Given the description of an element on the screen output the (x, y) to click on. 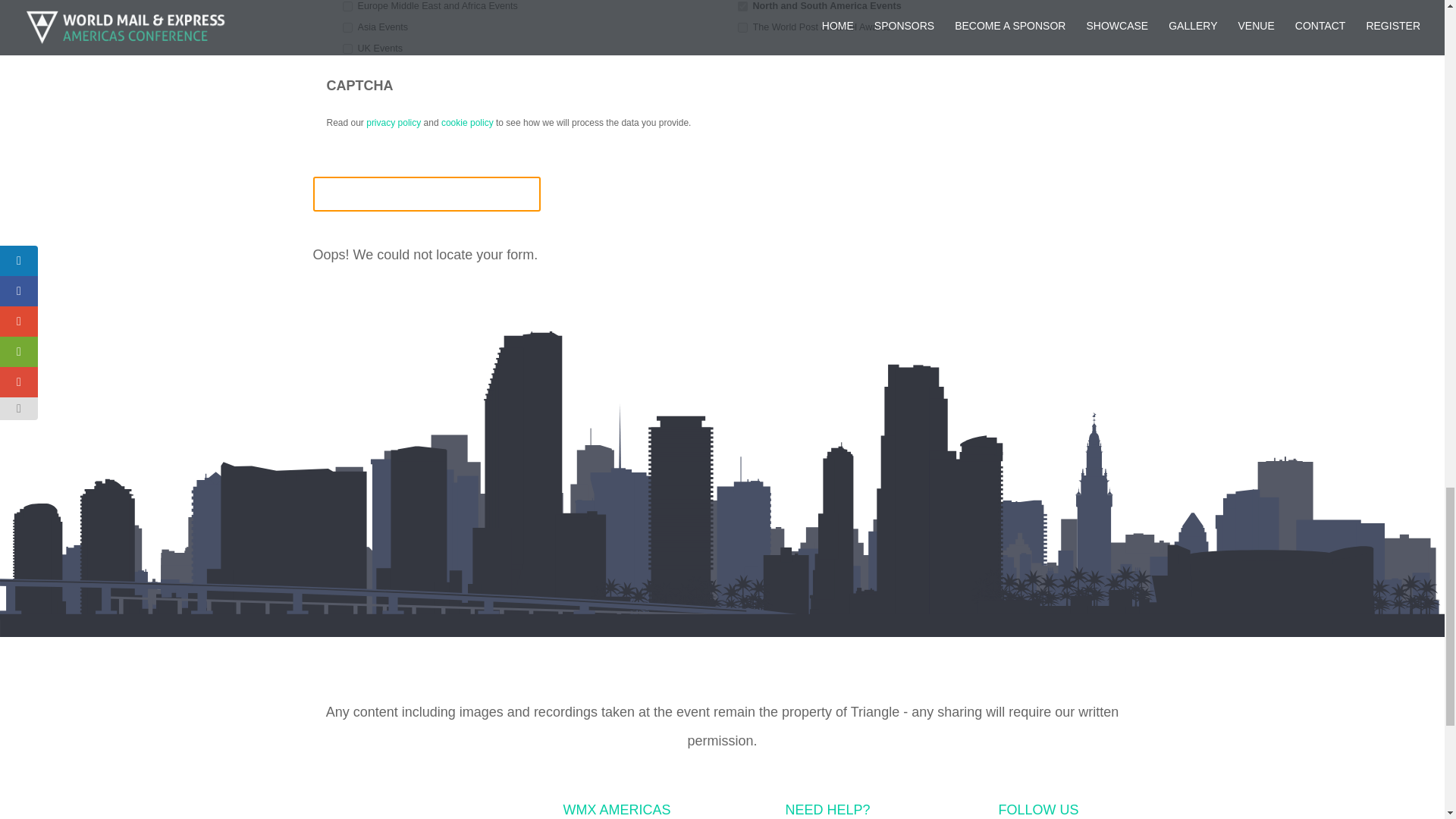
Asia Events (347, 27)
Europe Middle East and Africa Events (347, 6)
Subscribe to Updates (426, 193)
UK Events (347, 49)
privacy policy (393, 122)
cookie policy (467, 122)
Subscribe to Updates (426, 193)
North and South America Events (741, 6)
